Given the description of an element on the screen output the (x, y) to click on. 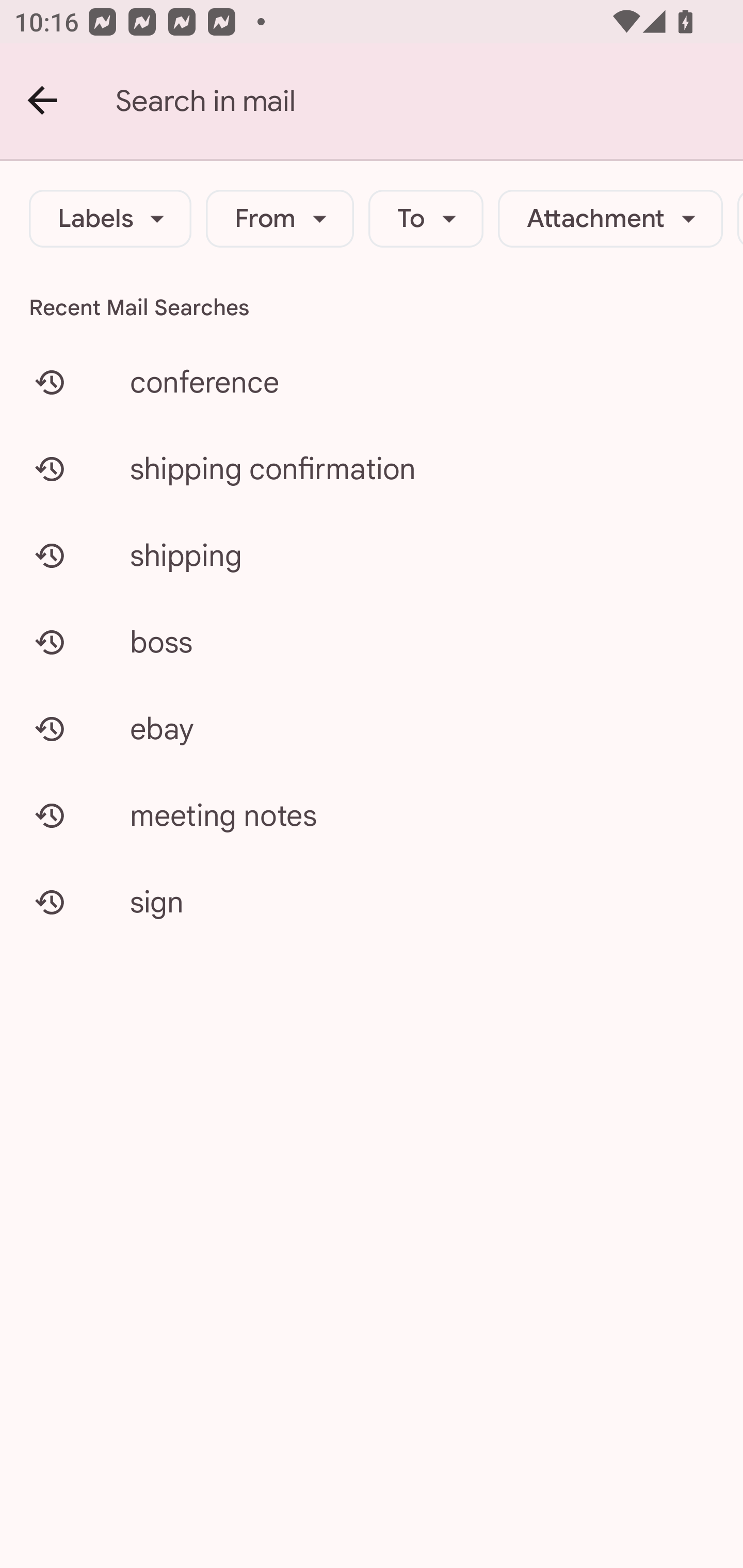
Back (43, 101)
Search in mail (429, 101)
Labels (109, 218)
From (279, 218)
To (425, 218)
Attachment (609, 218)
Recent Mail Searches (371, 306)
conference Suggestion: conference (371, 381)
shipping Suggestion: shipping (371, 555)
boss Suggestion: boss (371, 641)
ebay Suggestion: ebay (371, 728)
meeting notes Suggestion: meeting notes (371, 815)
sign Suggestion: sign (371, 902)
